Given the description of an element on the screen output the (x, y) to click on. 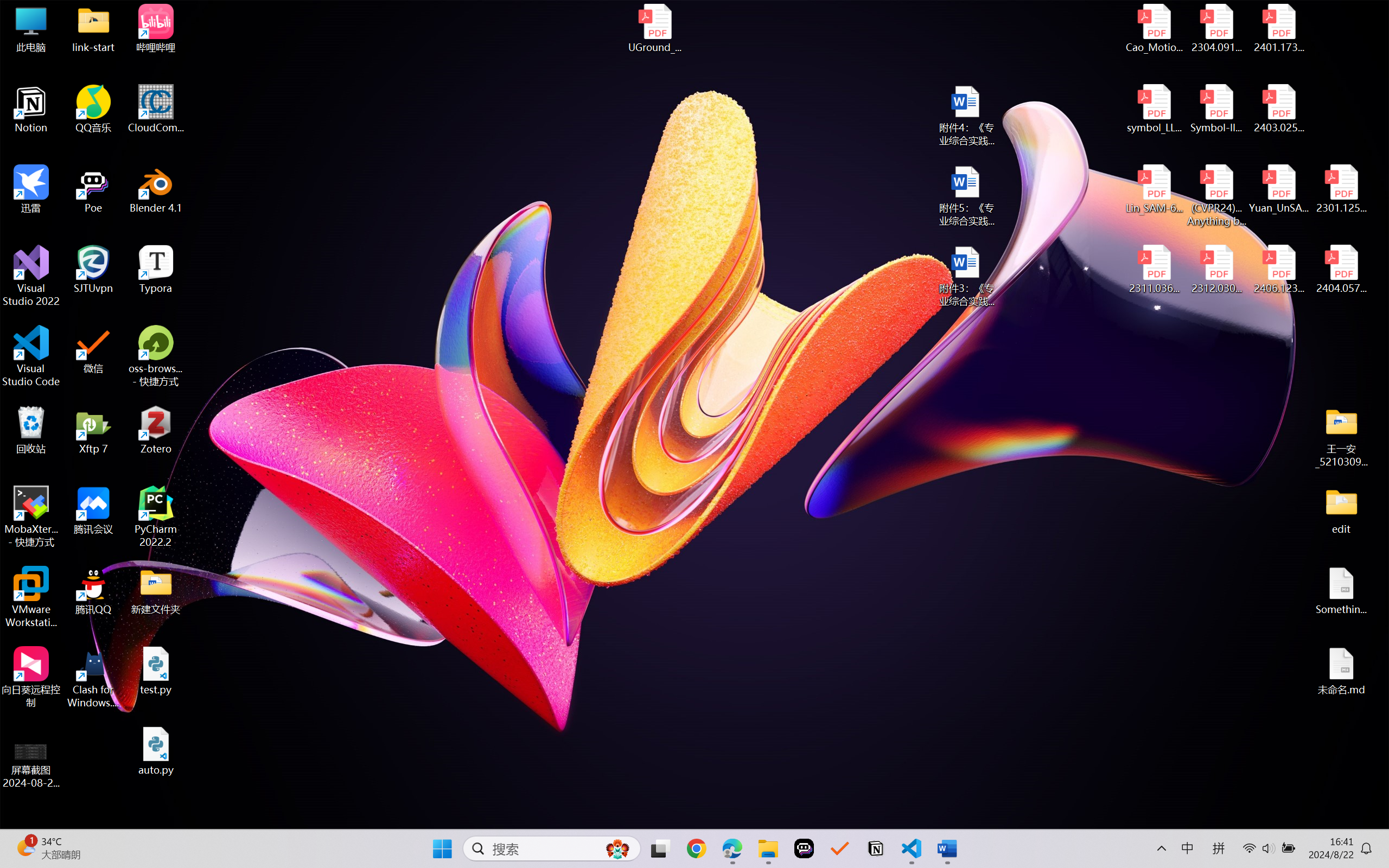
2401.17399v1.pdf (1278, 28)
VMware Workstation Pro (31, 597)
UGround_paper.pdf (654, 28)
Notion (875, 848)
